Given the description of an element on the screen output the (x, y) to click on. 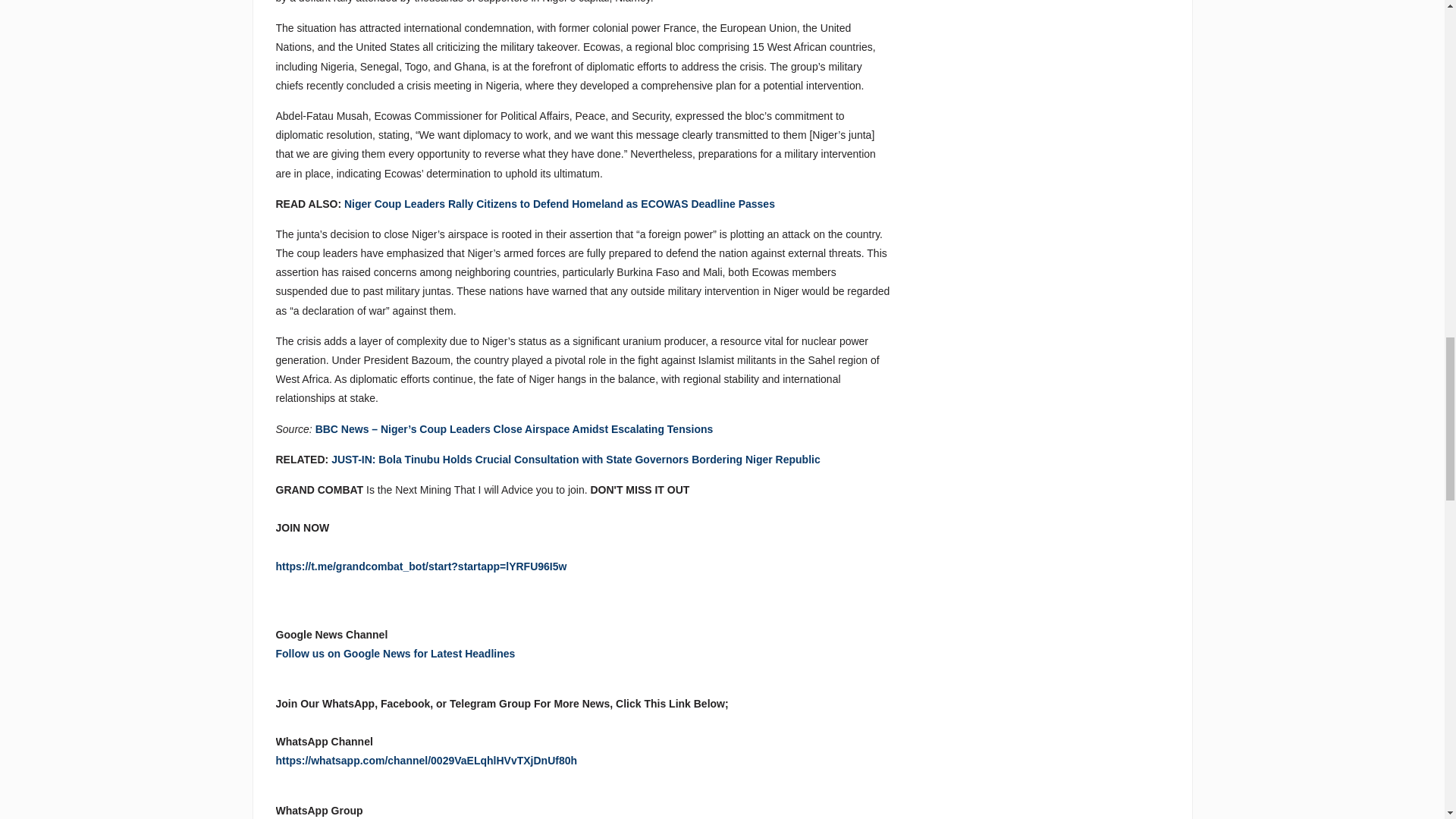
Follow us on Google News for Latest Headlines (395, 653)
